Given the description of an element on the screen output the (x, y) to click on. 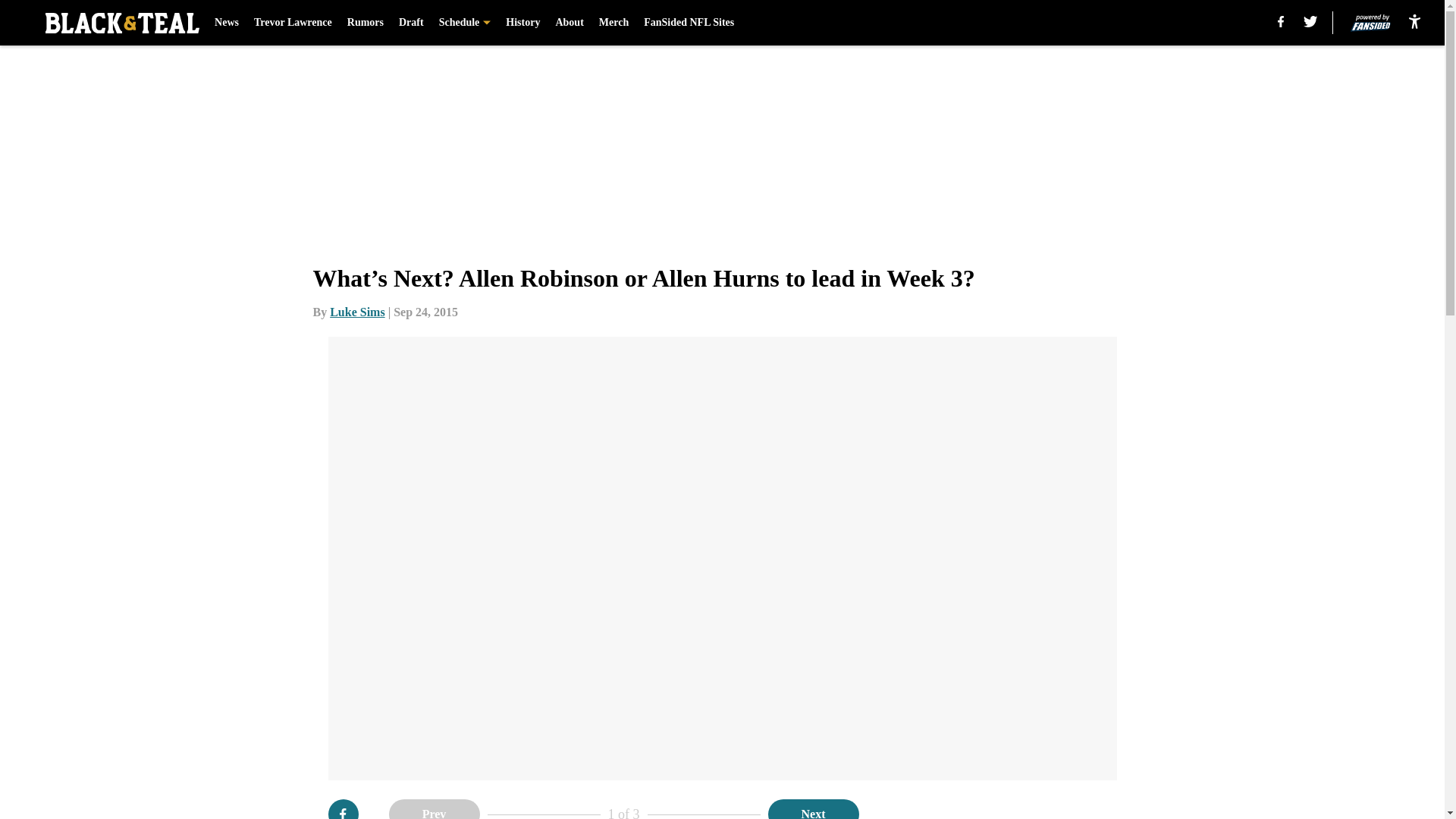
Draft (410, 22)
History (522, 22)
News (226, 22)
Luke Sims (357, 311)
Next (813, 809)
Prev (433, 809)
Merch (613, 22)
FanSided NFL Sites (688, 22)
Rumors (365, 22)
About (568, 22)
Trevor Lawrence (292, 22)
